Given the description of an element on the screen output the (x, y) to click on. 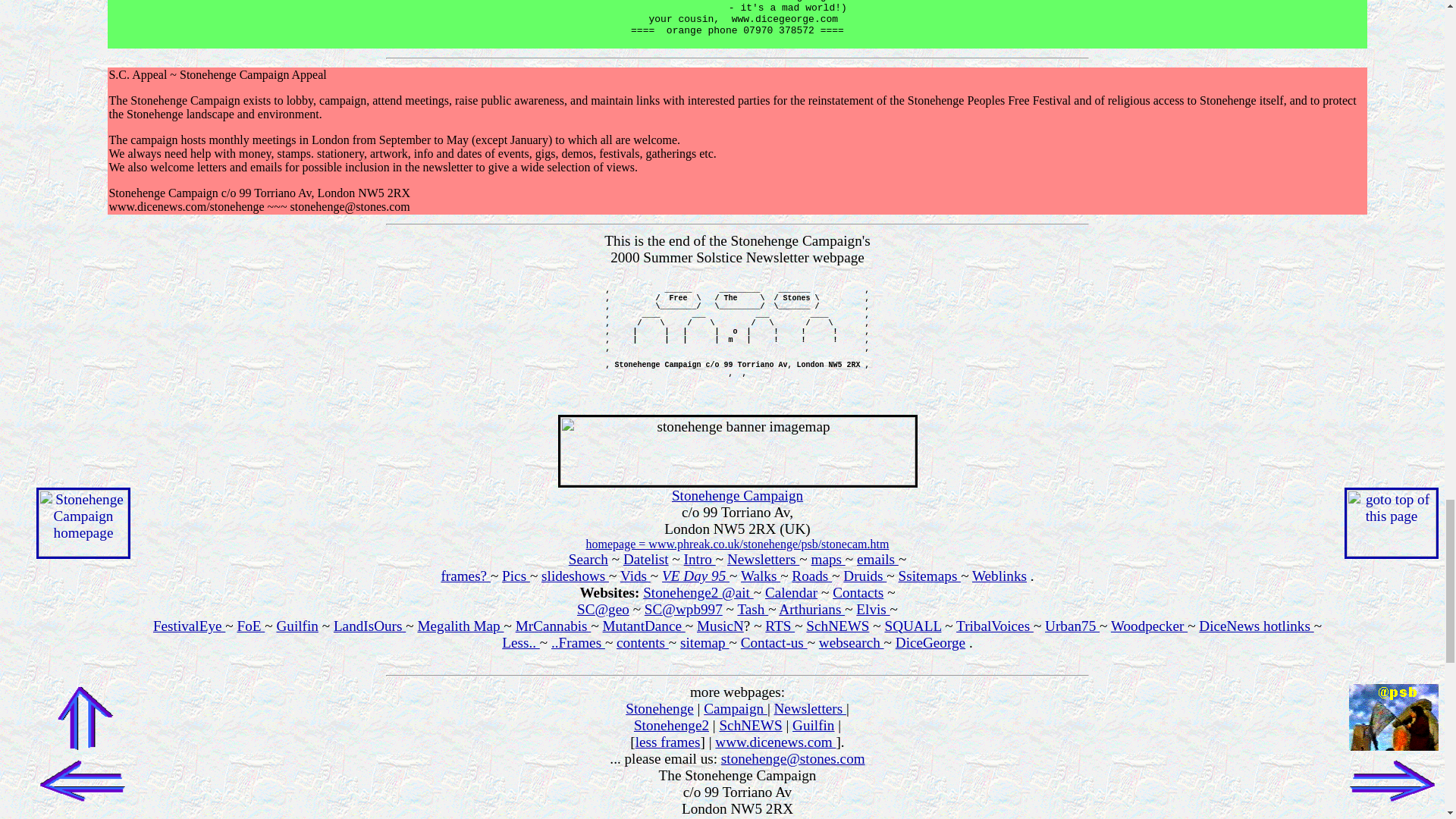
emails (877, 559)
Newsletters (762, 559)
Stonehenge Campaign (737, 495)
Datelist (645, 559)
frames? (465, 575)
maps (827, 559)
Intro (700, 559)
Search (588, 559)
